Given the description of an element on the screen output the (x, y) to click on. 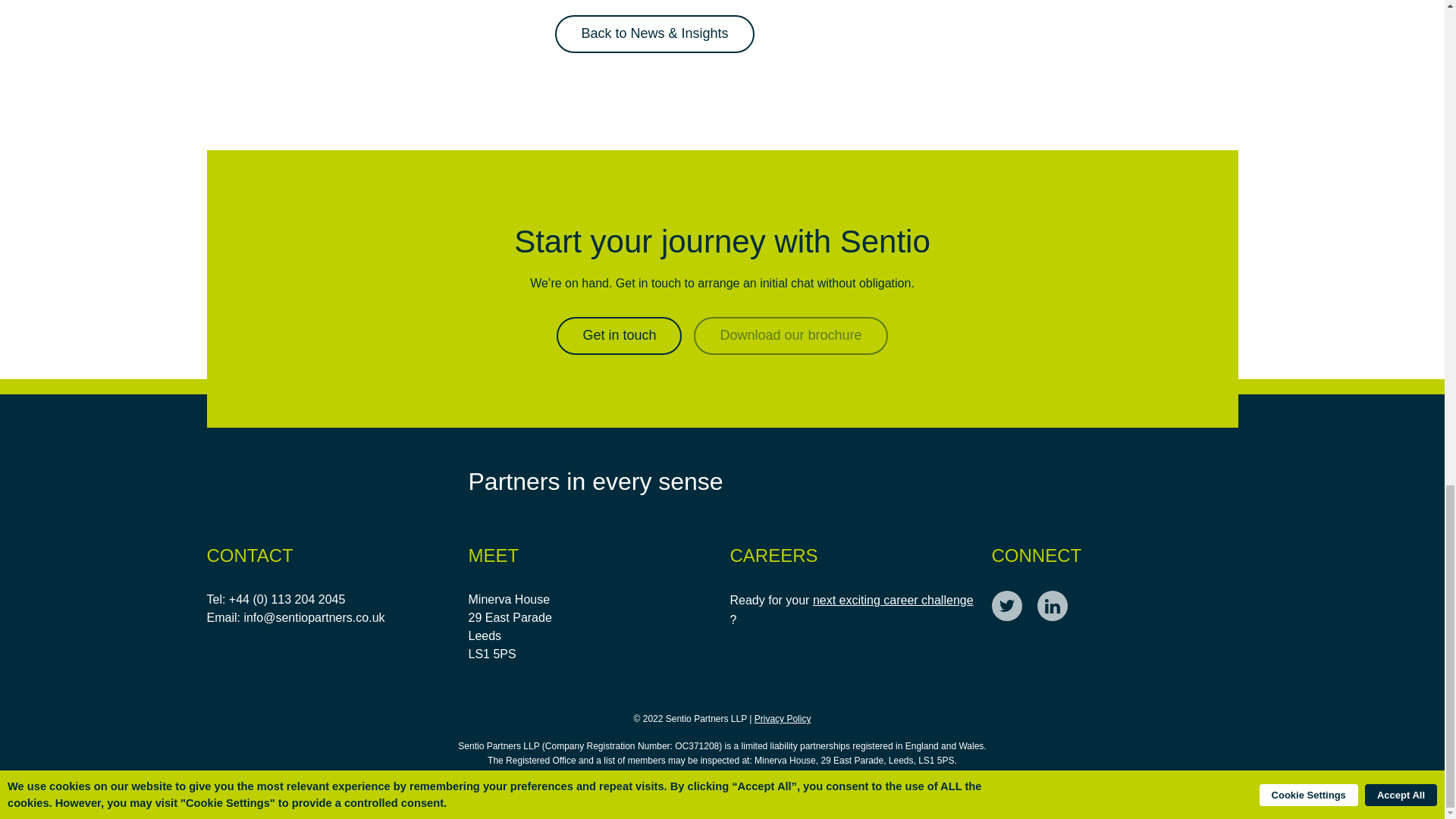
Find Sentio Partners on LinkedIn (1051, 605)
Follow Sentio Partners on Twitter (1006, 605)
Go to homepage (301, 481)
Download our brochure (790, 335)
Privacy Policy (782, 718)
Get in touch (618, 335)
next exciting career challenge (893, 600)
